Given the description of an element on the screen output the (x, y) to click on. 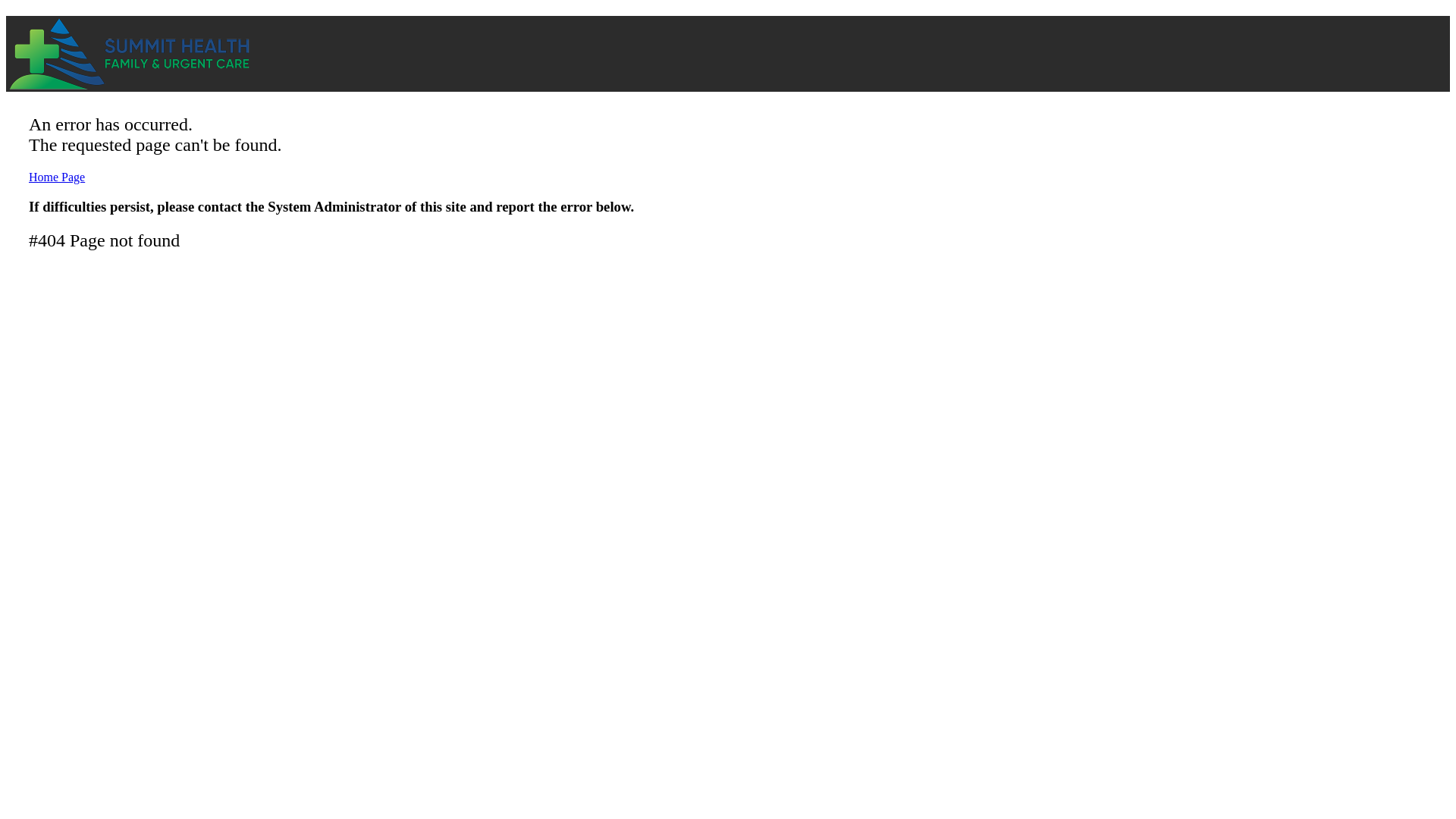
Go to the Home Page (56, 176)
Home Page (56, 176)
